Given the description of an element on the screen output the (x, y) to click on. 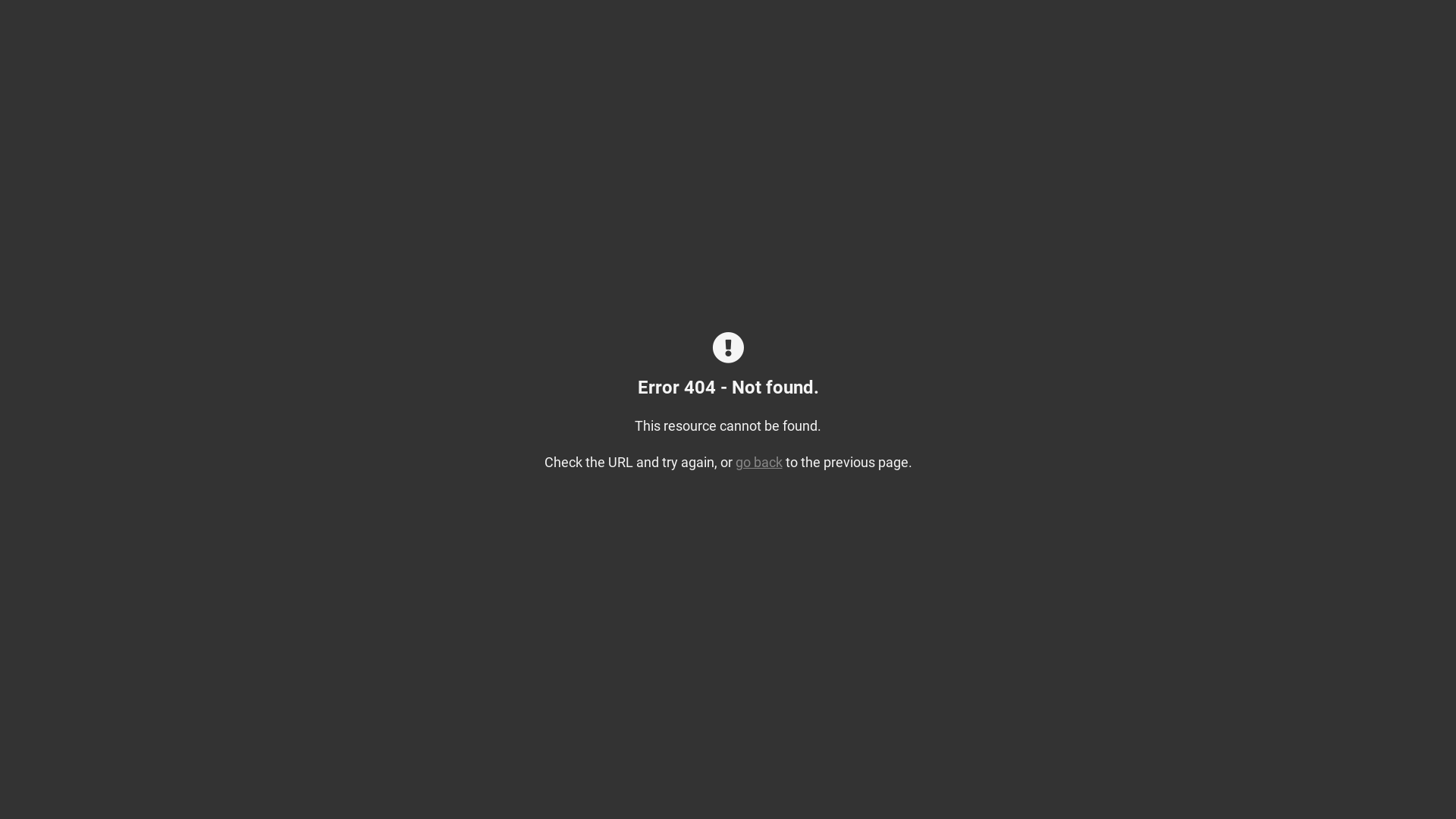
go back Element type: text (758, 462)
